Given the description of an element on the screen output the (x, y) to click on. 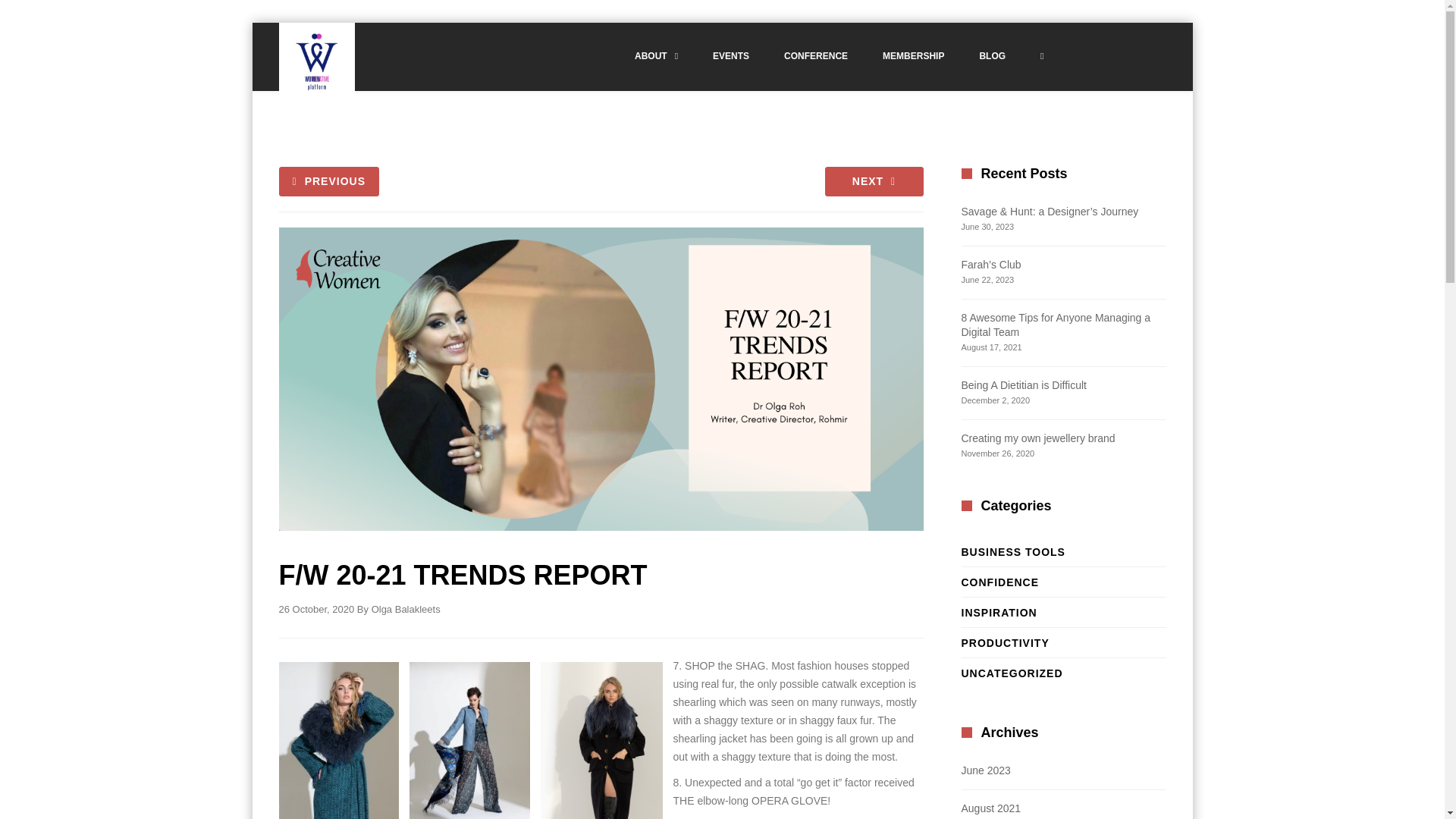
PREVIOUS (328, 181)
Creativewomen (317, 60)
NEXT (874, 181)
BLOG (991, 56)
ABOUT (656, 56)
CONFERENCE (815, 56)
MEMBERSHIP (912, 56)
EVENTS (731, 56)
